Given the description of an element on the screen output the (x, y) to click on. 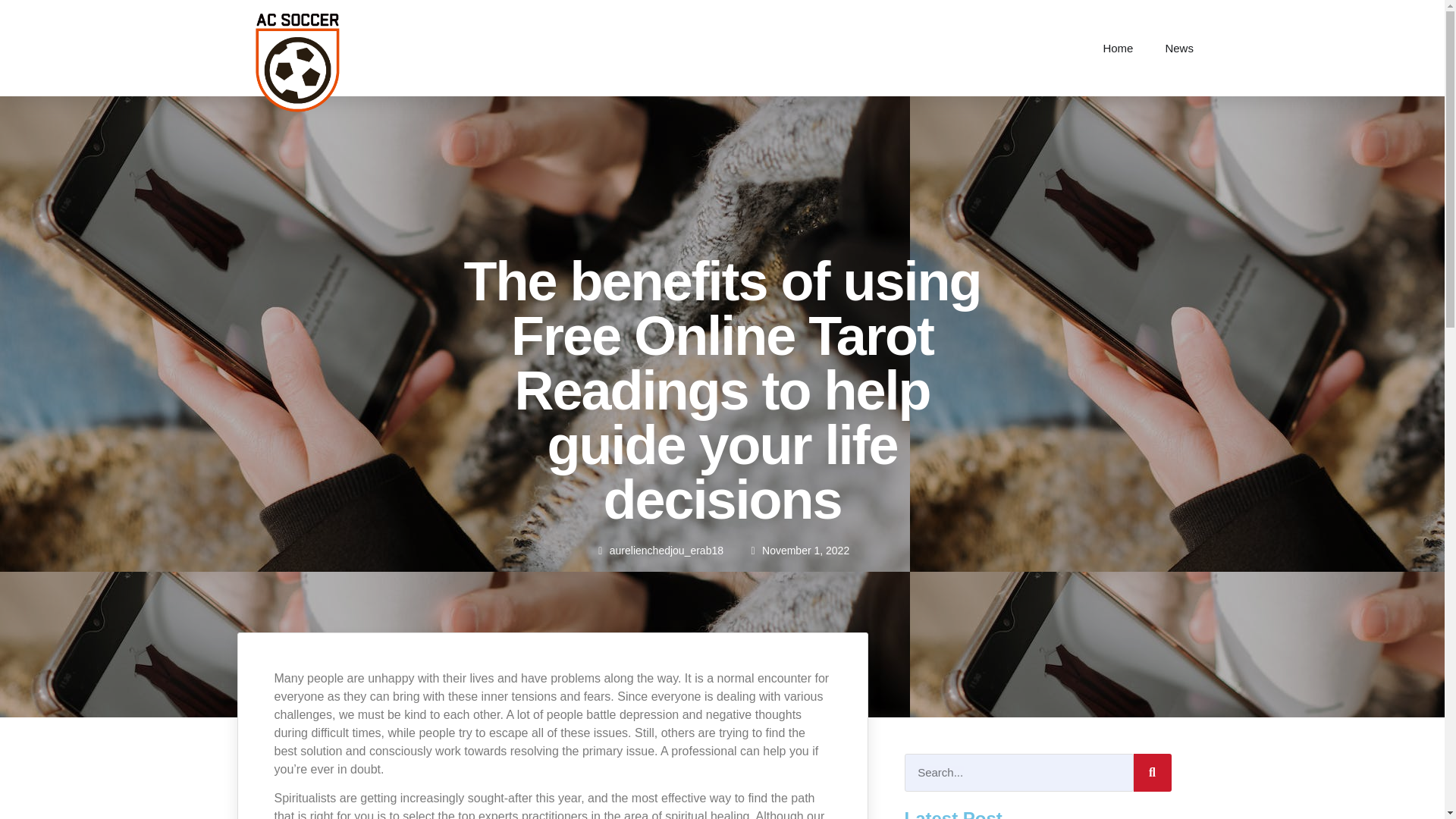
Search (1151, 772)
Search (1018, 772)
November 1, 2022 (798, 550)
